Given the description of an element on the screen output the (x, y) to click on. 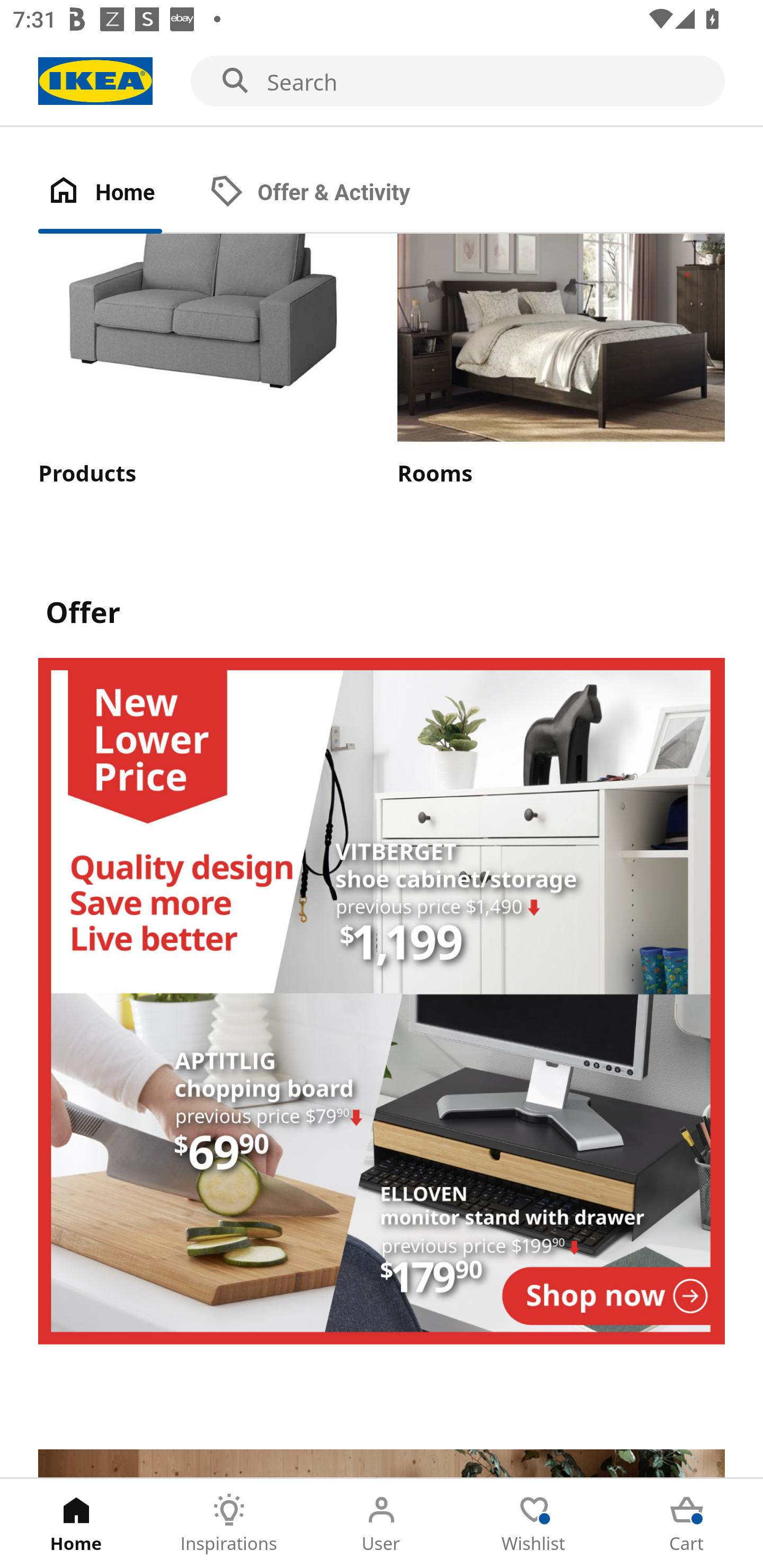
Search (381, 81)
Home
Tab 1 of 2 (118, 192)
Offer & Activity
Tab 2 of 2 (327, 192)
Products (201, 361)
Rooms (560, 361)
Home
Tab 1 of 5 (76, 1522)
Inspirations
Tab 2 of 5 (228, 1522)
User
Tab 3 of 5 (381, 1522)
Wishlist
Tab 4 of 5 (533, 1522)
Cart
Tab 5 of 5 (686, 1522)
